Given the description of an element on the screen output the (x, y) to click on. 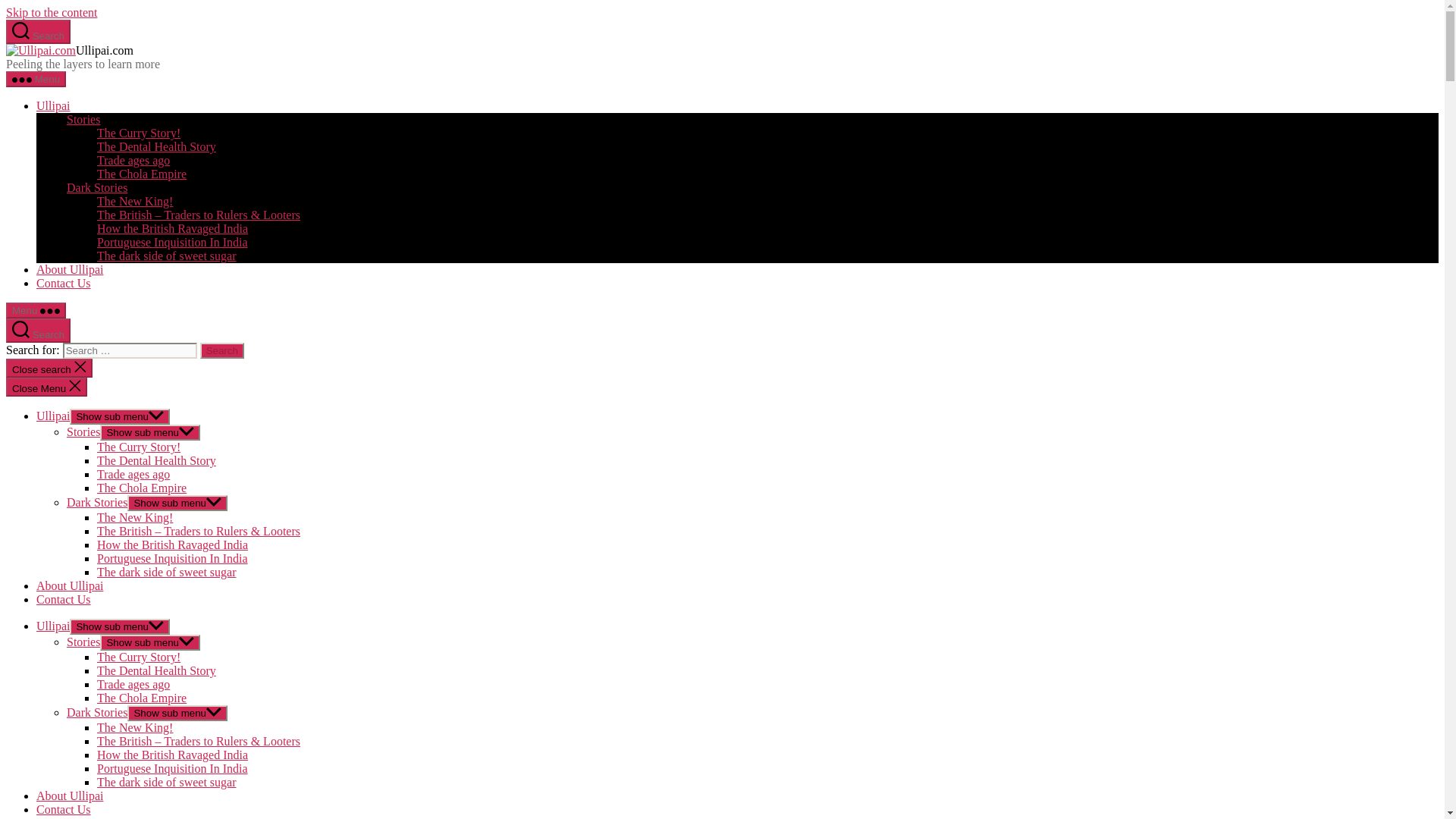
The New King! (135, 517)
The dark side of sweet sugar (166, 571)
Trade ages ago (133, 160)
Search (222, 350)
Portuguese Inquisition In India (172, 241)
Trade ages ago (133, 473)
Skip to the content (51, 11)
Show sub menu (119, 416)
Contact Us (63, 599)
Ullipai (52, 415)
Search (222, 350)
The Chola Empire (141, 487)
The Chola Empire (141, 173)
Close search (49, 367)
Close Menu (46, 386)
